Given the description of an element on the screen output the (x, y) to click on. 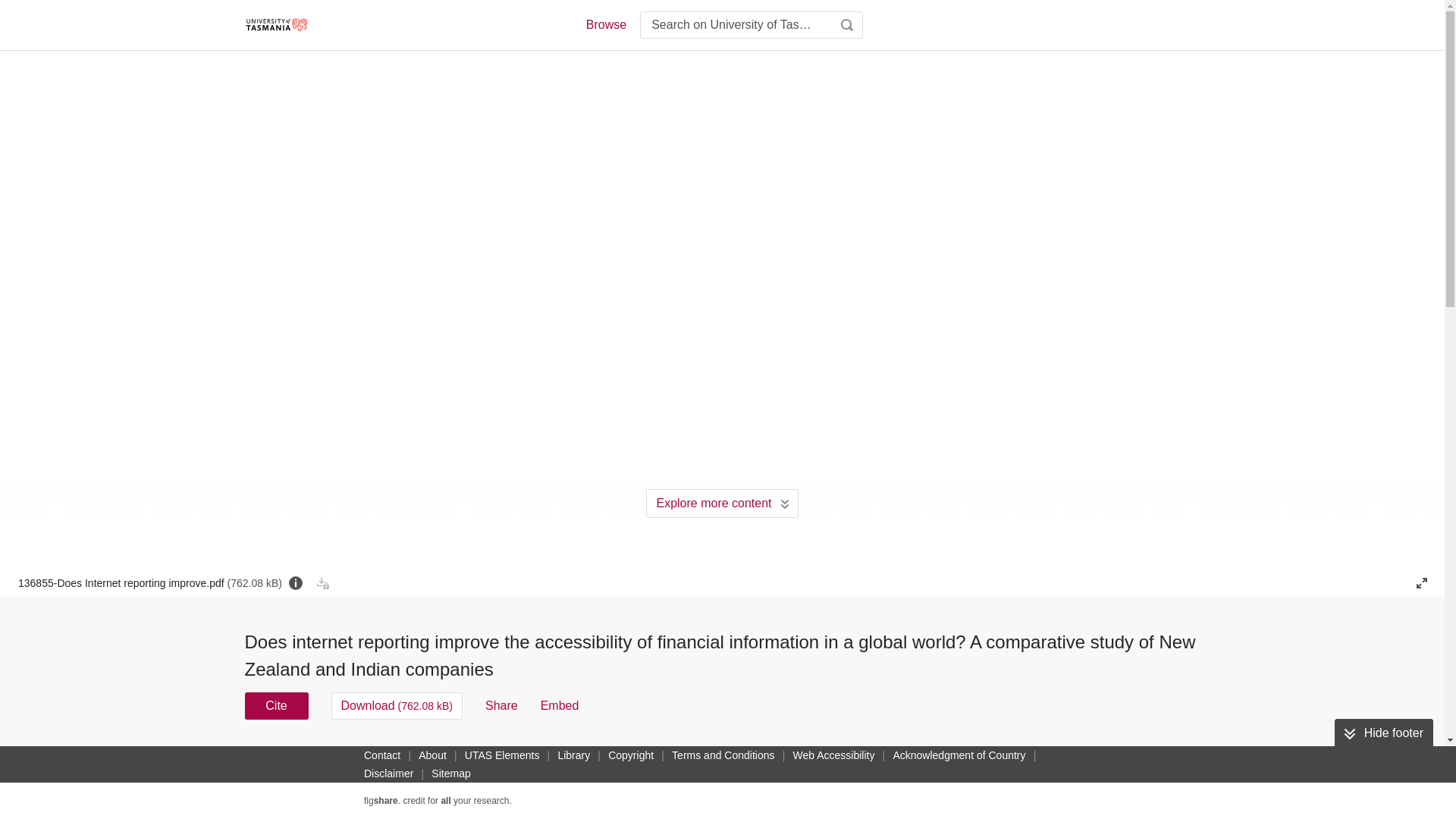
Browse (605, 24)
Embed (559, 705)
Explore more content (721, 502)
UTAS Elements (502, 755)
Terms and Conditions (722, 755)
About (432, 755)
Contact (381, 755)
Copyright (631, 755)
Web Accessibility (834, 755)
Hide footer (1383, 733)
Share (501, 705)
USAGE METRICS (976, 759)
Cite (275, 705)
Library (573, 755)
